Given the description of an element on the screen output the (x, y) to click on. 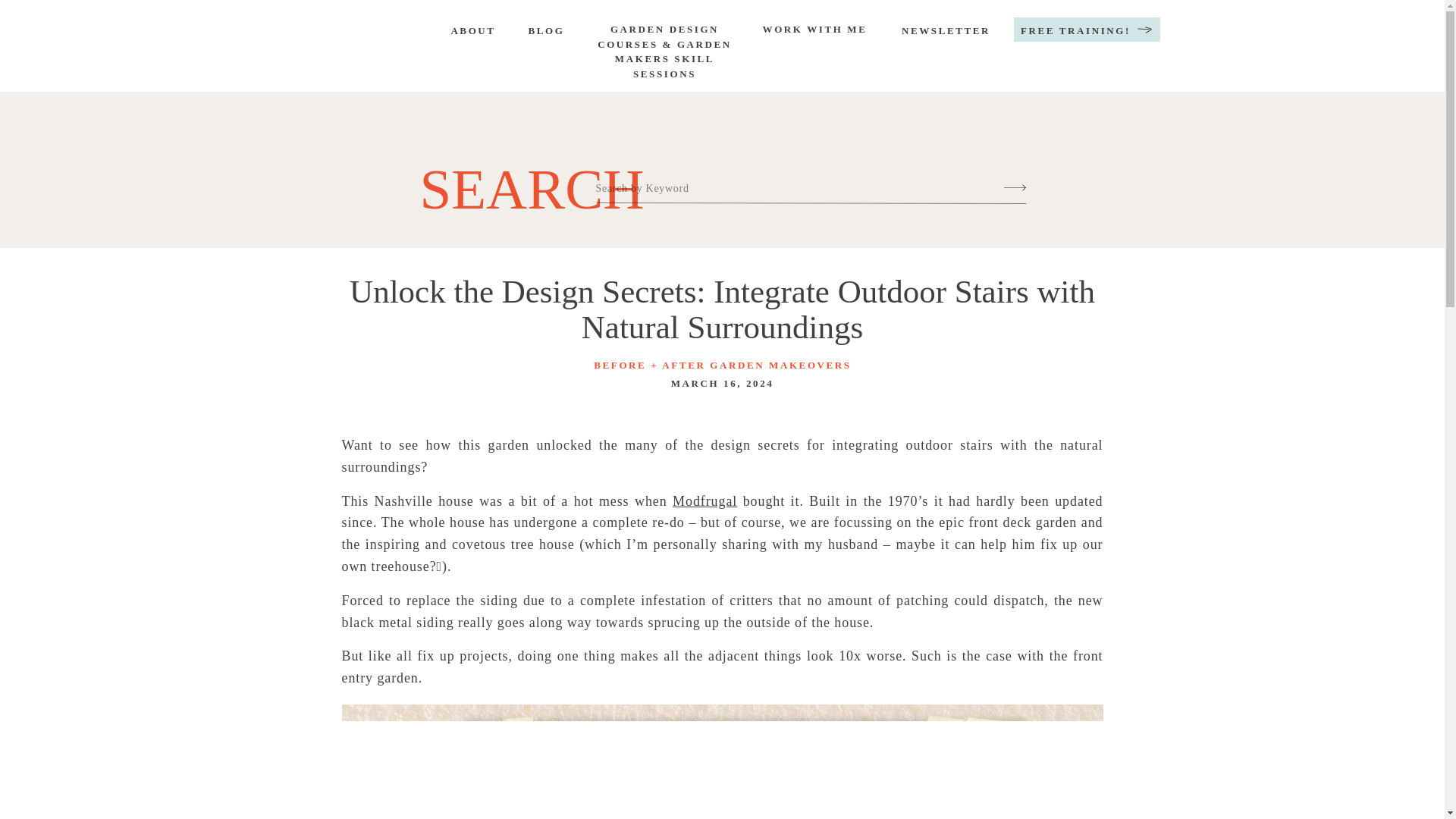
WORK WITH ME (815, 33)
FREE TRAINING! (1075, 31)
ABOUT (471, 31)
NEWSLETTER (945, 31)
Modfrugal (704, 500)
SEARCH (515, 180)
BLOG (545, 31)
